Given the description of an element on the screen output the (x, y) to click on. 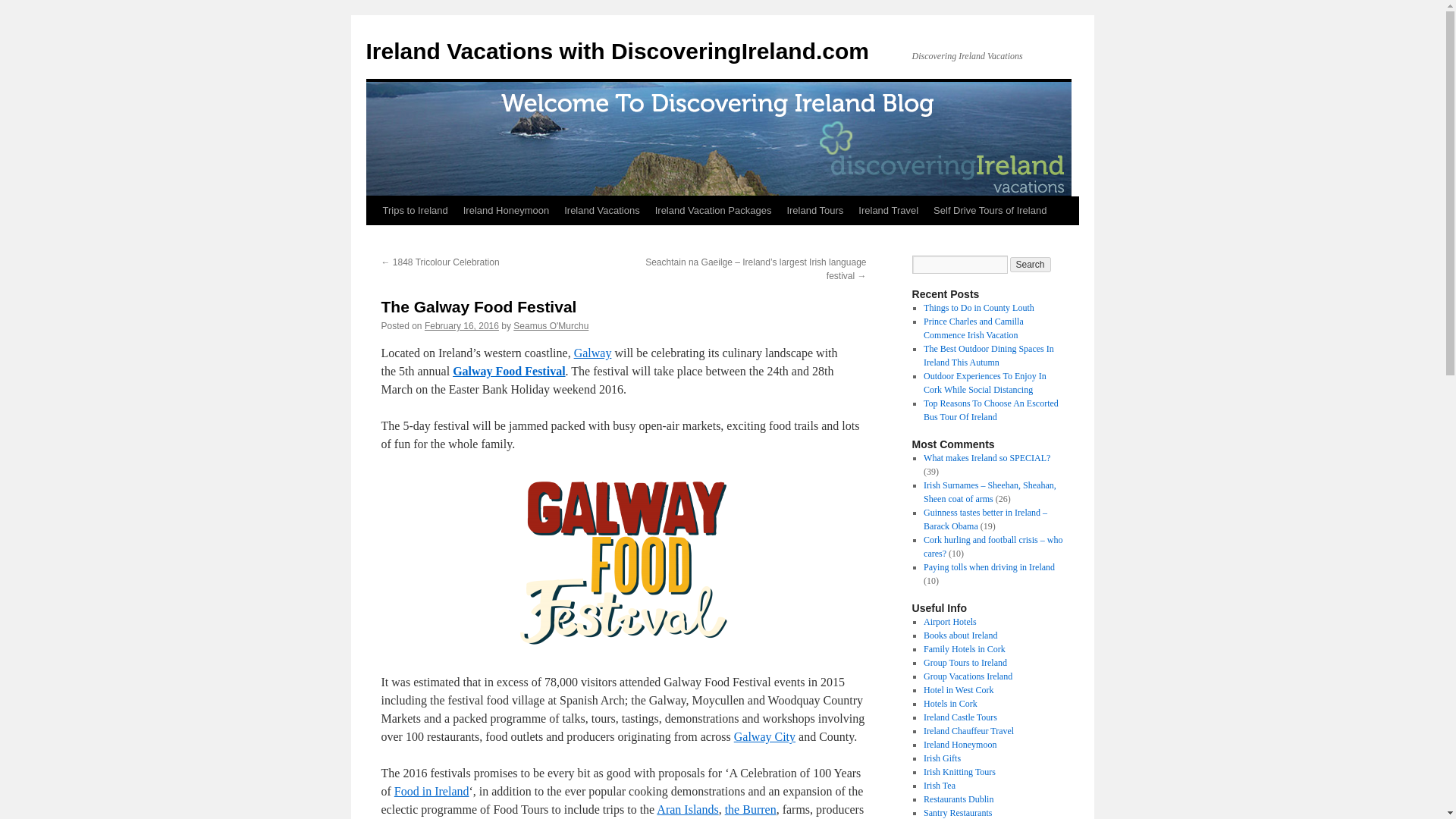
Aran Islands (686, 809)
Food in Ireland (431, 790)
Ireland Vacations with DiscoveringIreland.com (617, 50)
Self Drive Tours of Ireland (990, 210)
10:23 am (462, 326)
Galway City (763, 736)
Ireland Vacation Packages (712, 210)
Ireland Honeymoon (505, 210)
Ireland Tours (814, 210)
Galway (592, 352)
